Given the description of an element on the screen output the (x, y) to click on. 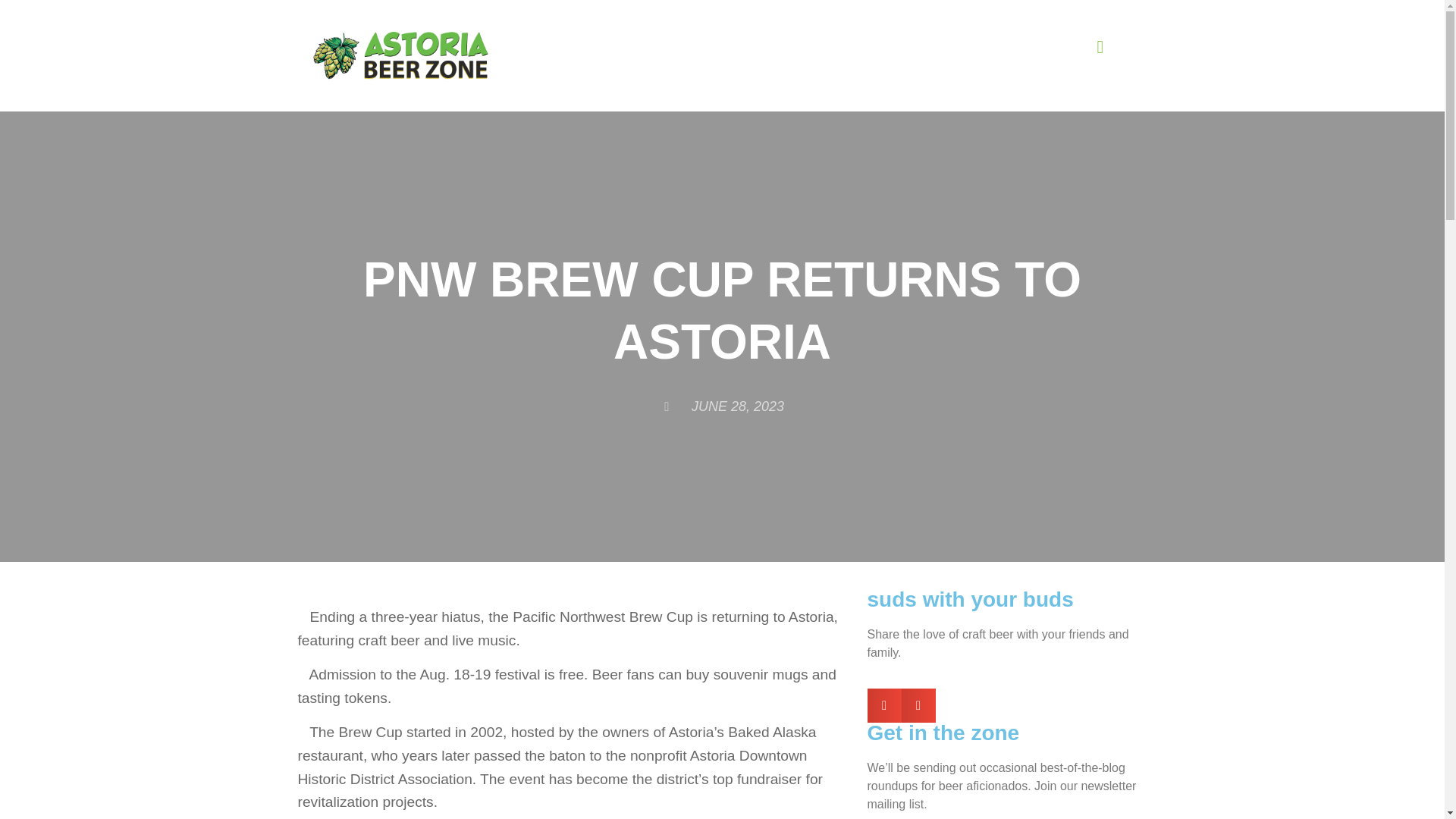
JUNE 28, 2023 (722, 405)
